Given the description of an element on the screen output the (x, y) to click on. 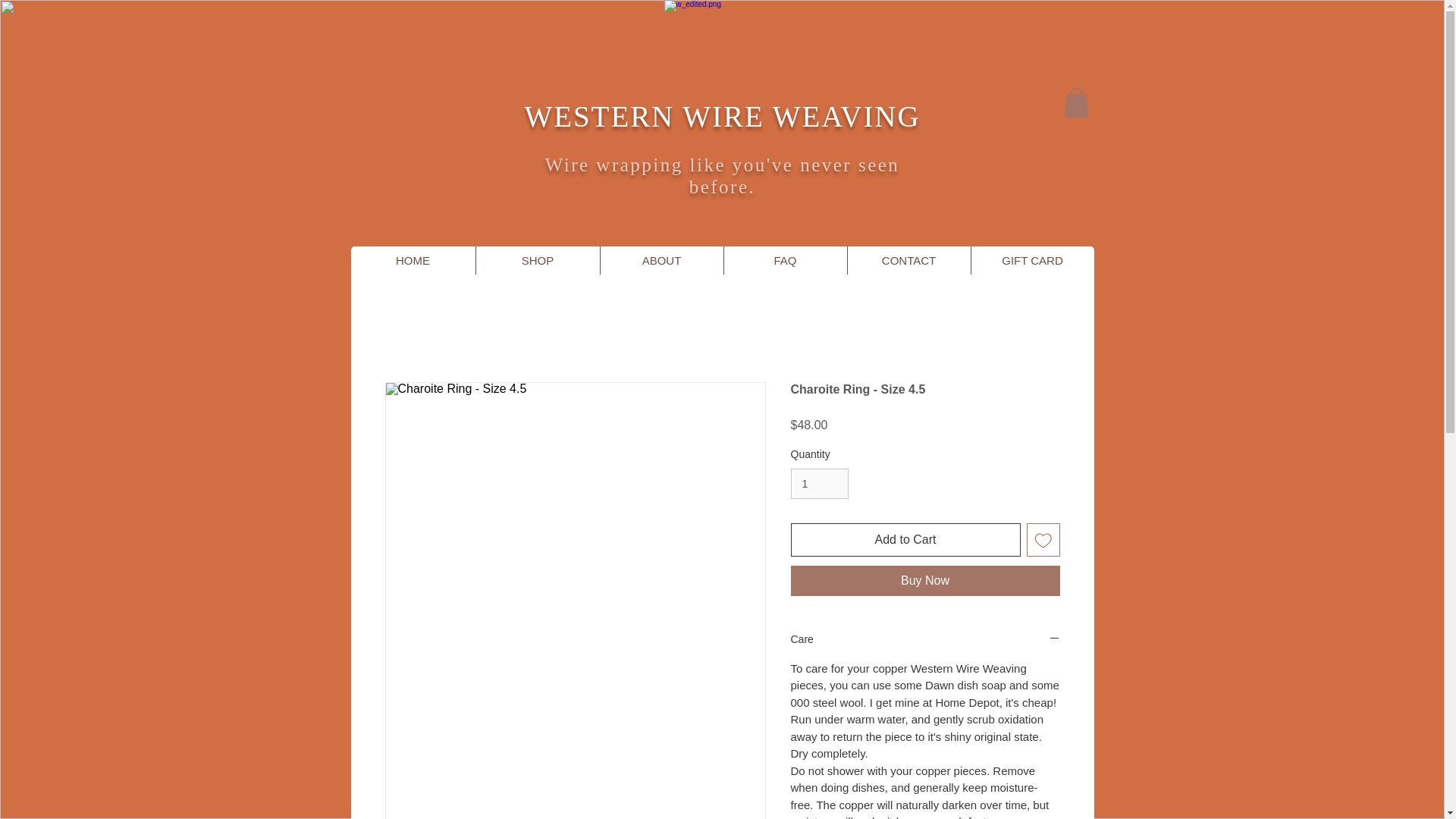
ABOUT (660, 260)
Buy Now (924, 580)
CONTACT (907, 260)
1 (818, 483)
HOME (412, 260)
WESTERN WIRE WEAVING (722, 115)
GIFT CARD (1032, 260)
SHOP (536, 260)
Add to Cart (905, 539)
Care (924, 639)
